Given the description of an element on the screen output the (x, y) to click on. 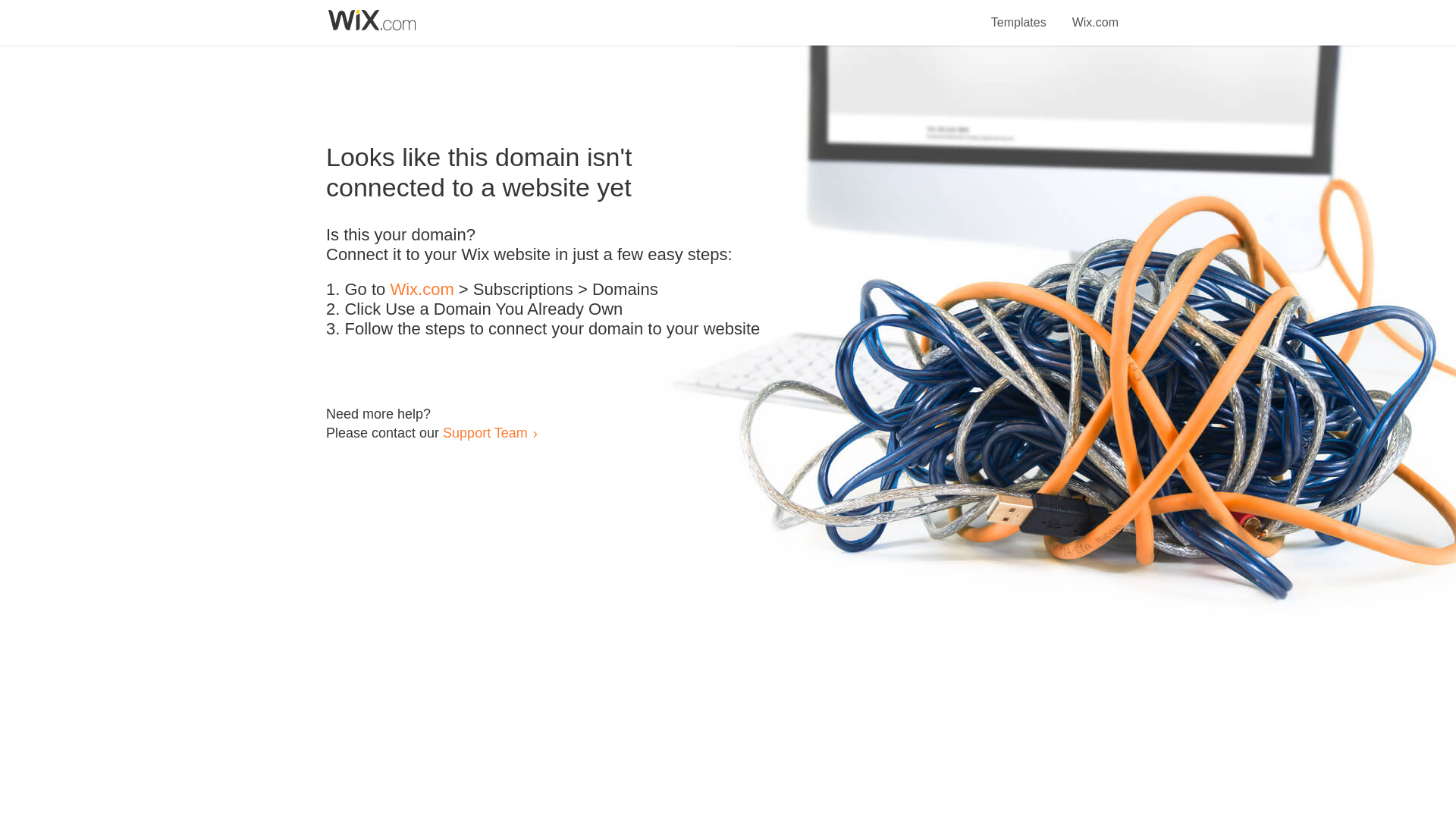
Templates (1018, 14)
Wix.com (1095, 14)
Wix.com (421, 289)
Support Team (484, 432)
